Given the description of an element on the screen output the (x, y) to click on. 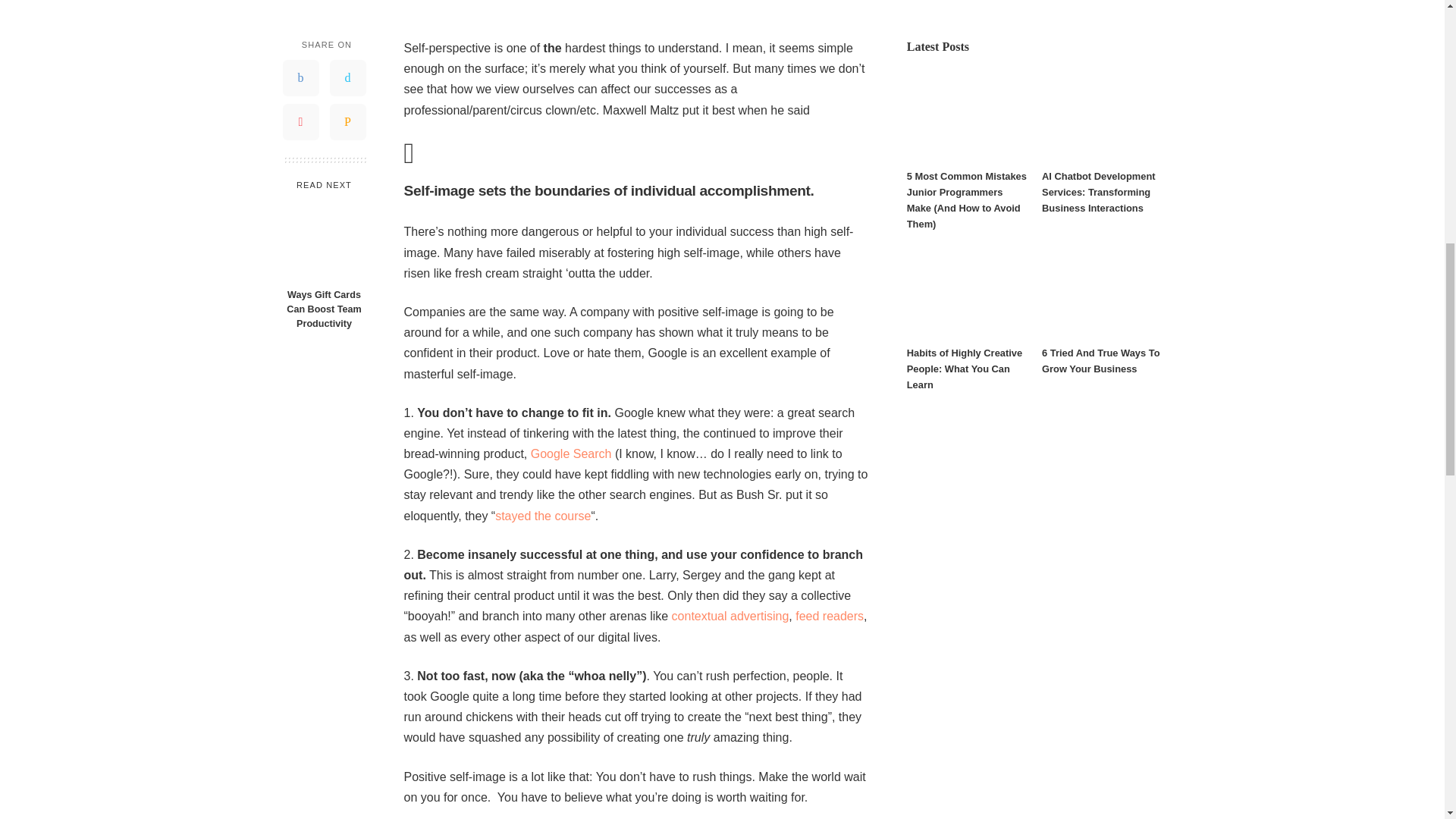
Email (347, 122)
Facebook (300, 77)
Pinterest (300, 122)
Twitter (347, 77)
